Given the description of an element on the screen output the (x, y) to click on. 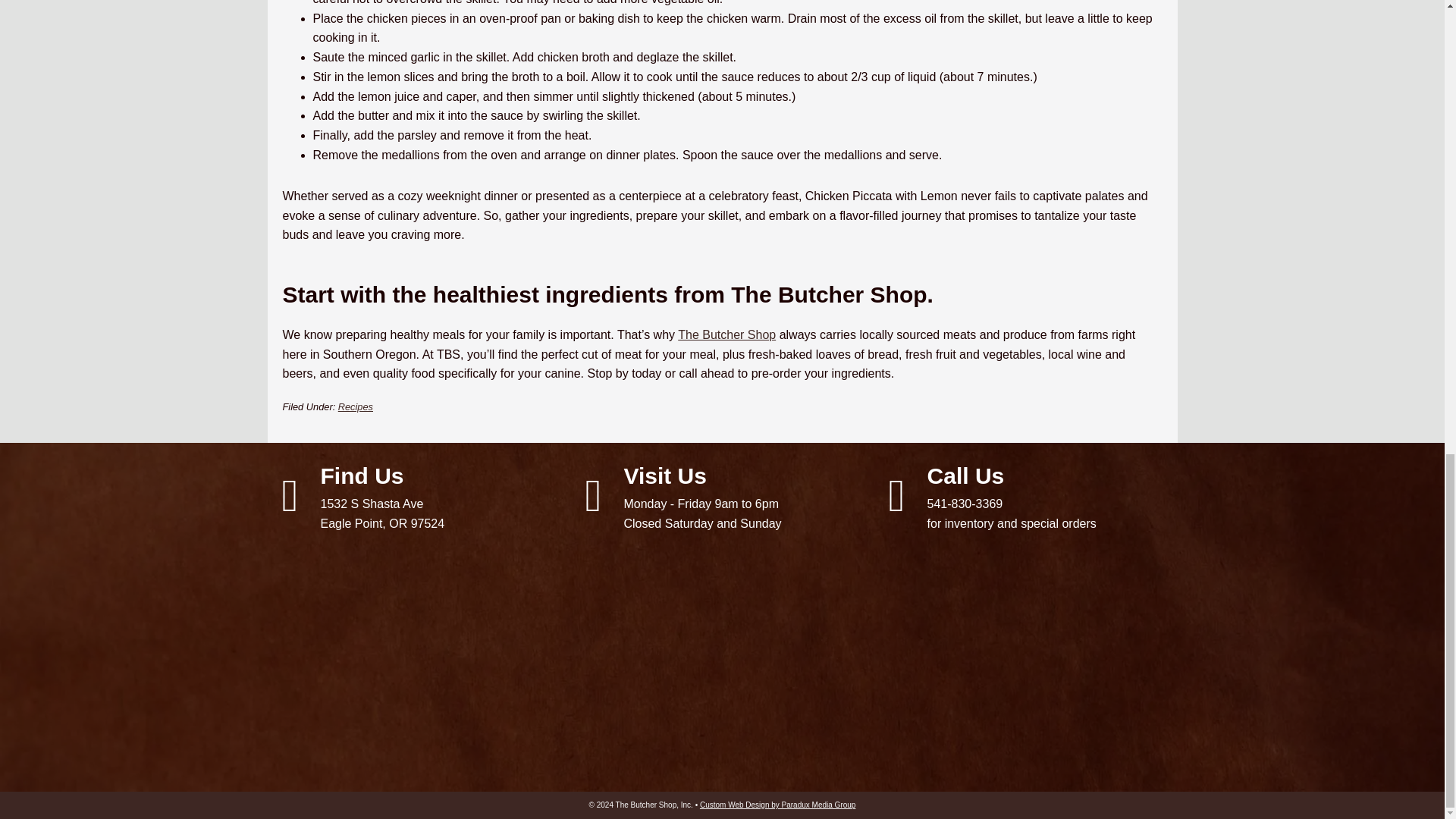
Paradux Media Group Custom Web Design (778, 804)
The Butcher Shop (727, 334)
Recipes (354, 406)
Custom Web Design by Paradux Media Group (1026, 495)
